Given the description of an element on the screen output the (x, y) to click on. 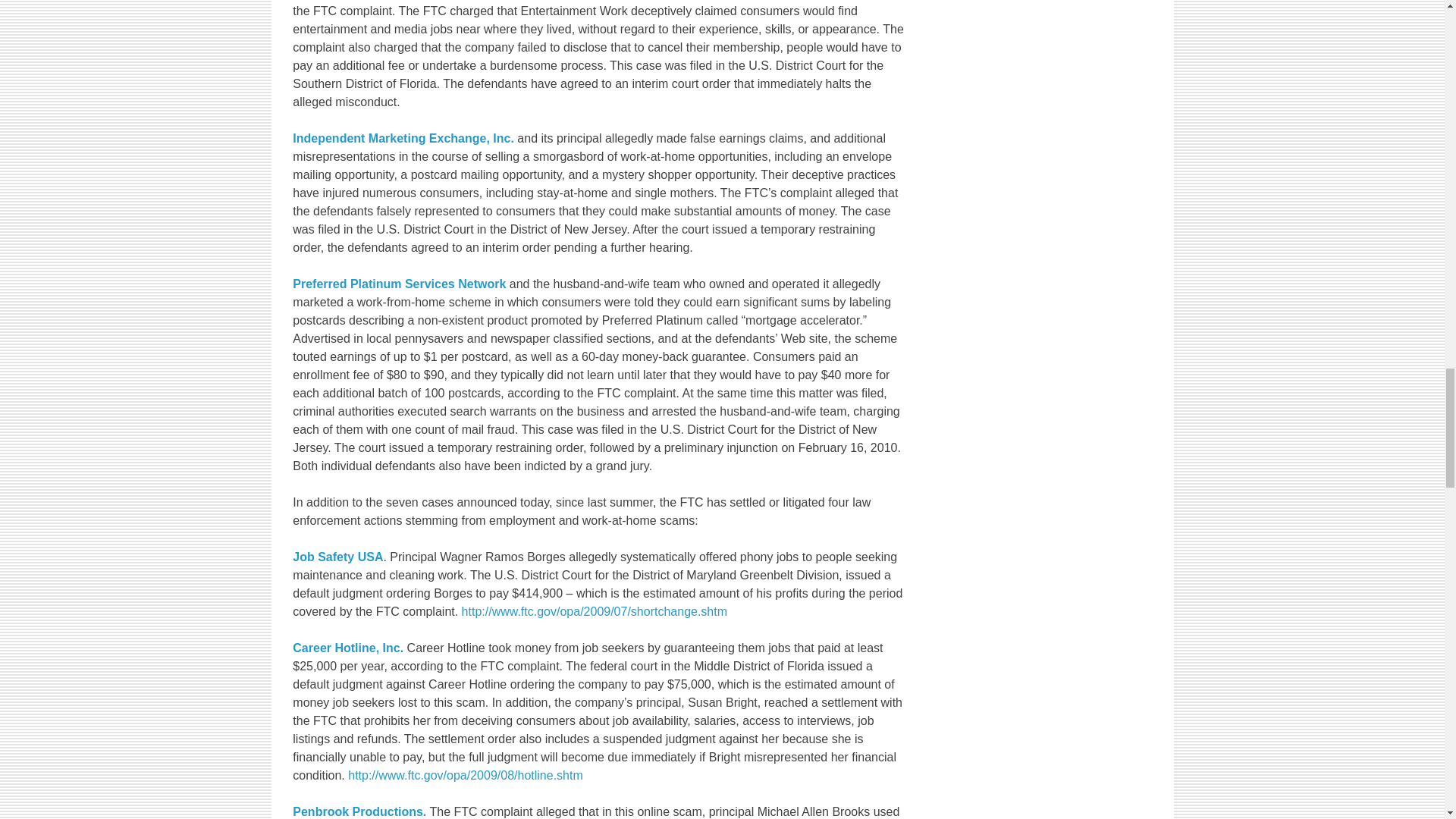
Independent Marketing Exchange, Inc. (402, 137)
Career Hotline, Inc. (347, 647)
Preferred Platinum Services Network (398, 283)
Penbrook Productions. (359, 811)
Job Safety USA (337, 556)
